Given the description of an element on the screen output the (x, y) to click on. 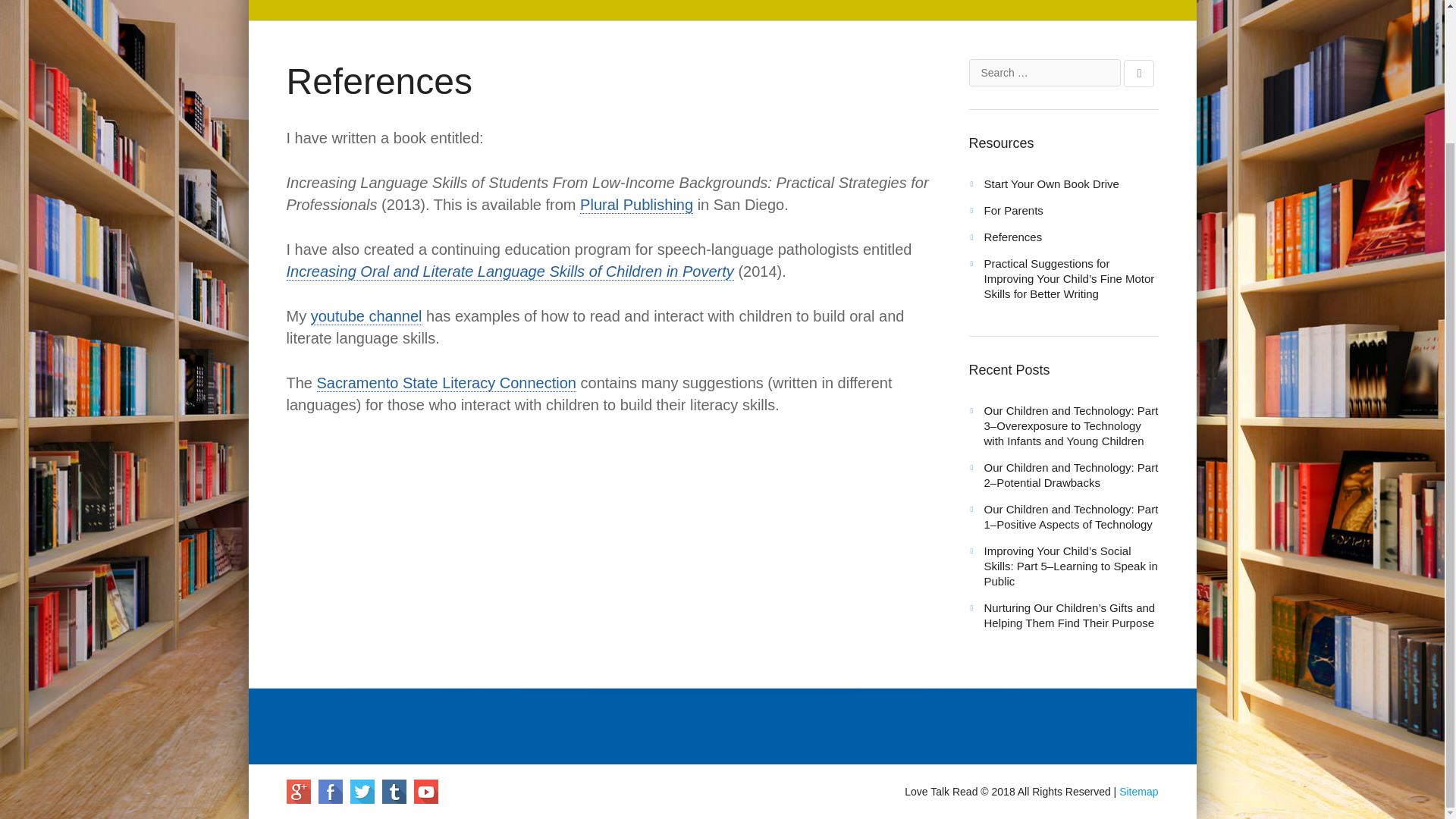
Plural Publishing (636, 204)
For Parents (1013, 210)
Search for: (1045, 72)
References (1013, 236)
Sitemap (1138, 791)
Start Your Own Book Drive (1051, 183)
Sacramento State Literacy Connection (446, 383)
Resources (1001, 142)
Sitemap (1138, 791)
